Given the description of an element on the screen output the (x, y) to click on. 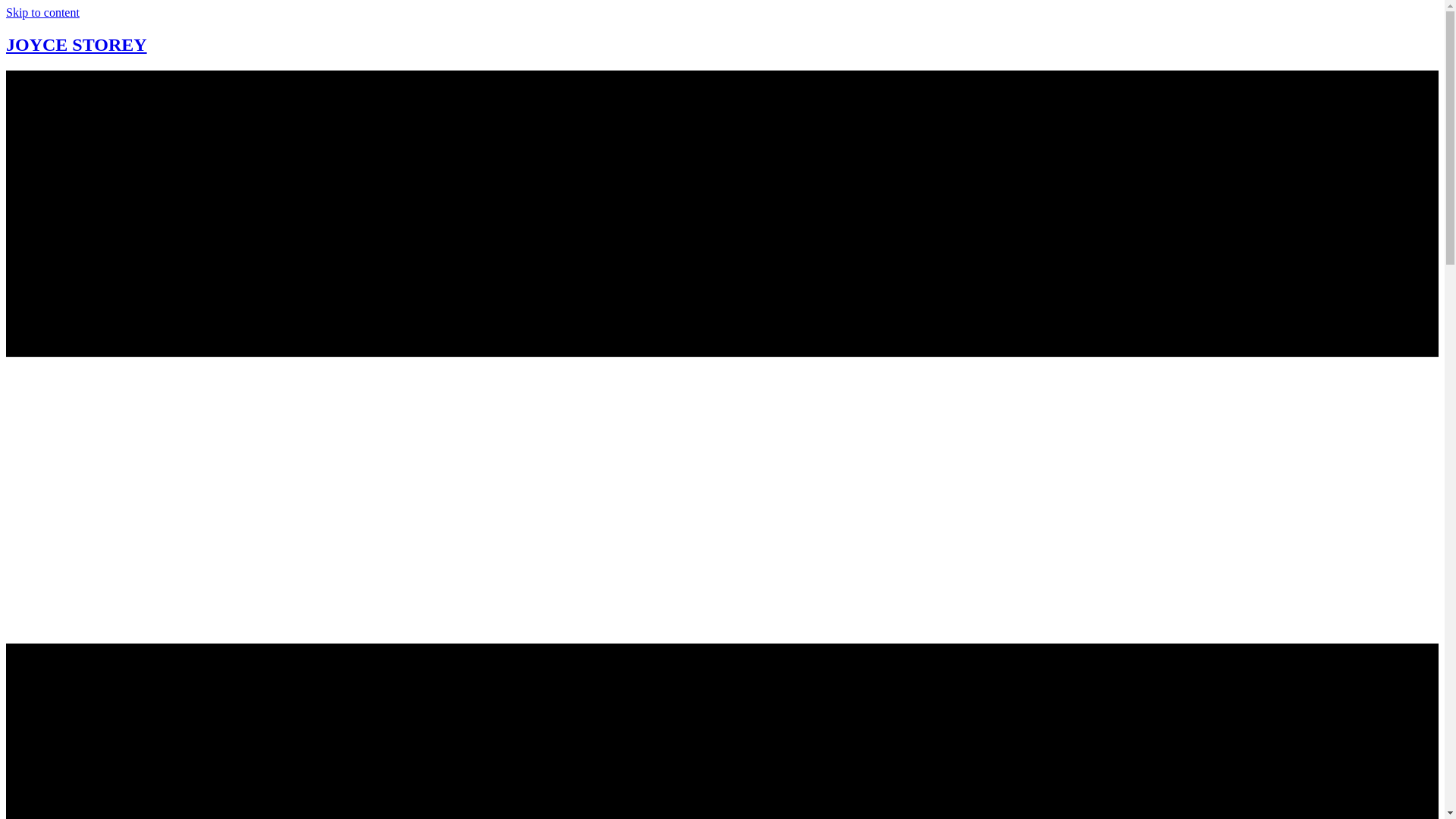
JOYCE STOREY (76, 44)
JOYCE STOREY (76, 44)
Skip to content (42, 11)
